Given the description of an element on the screen output the (x, y) to click on. 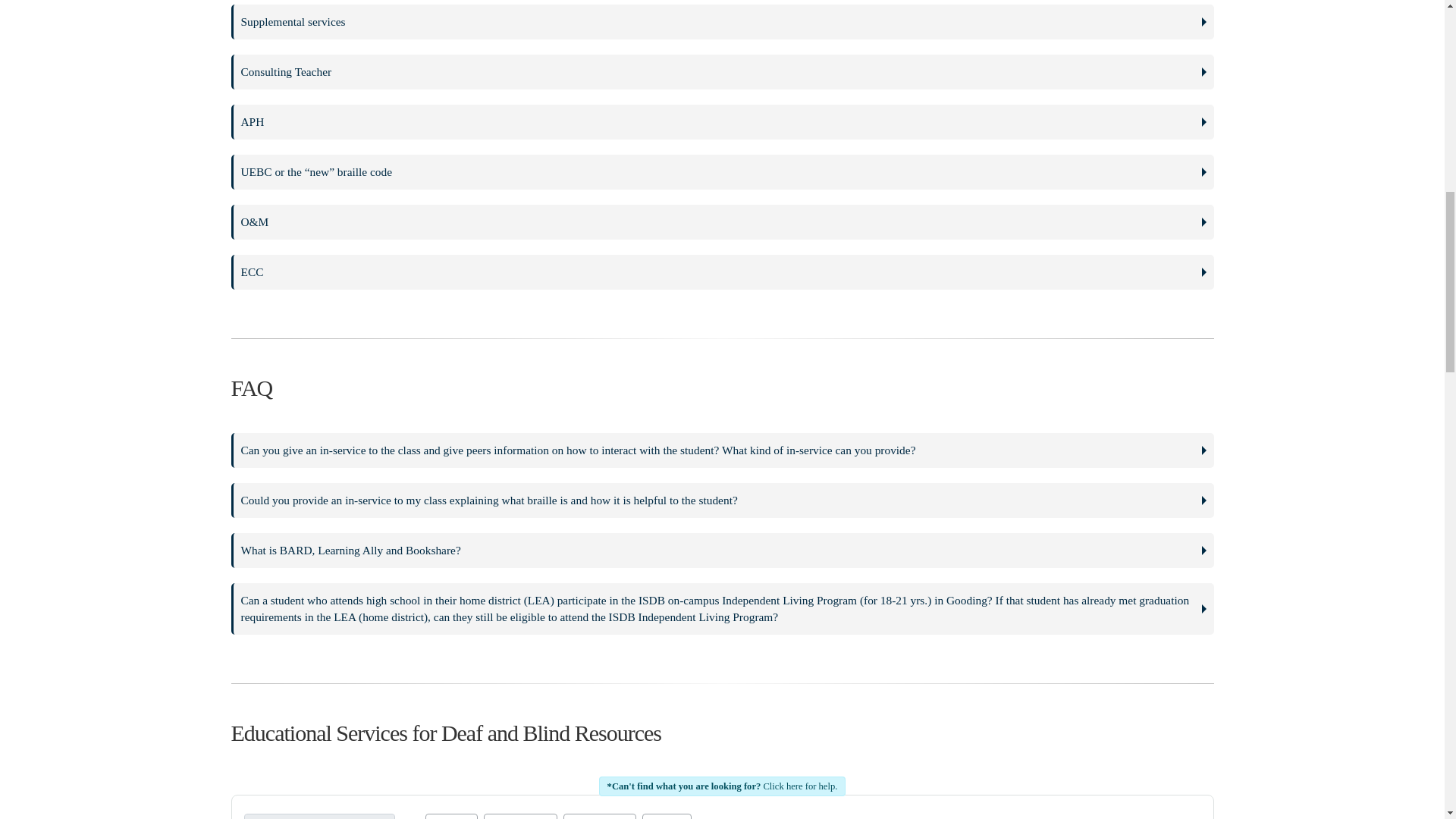
Type (451, 816)
Audience (599, 816)
Age (666, 816)
Providers (519, 816)
